Given the description of an element on the screen output the (x, y) to click on. 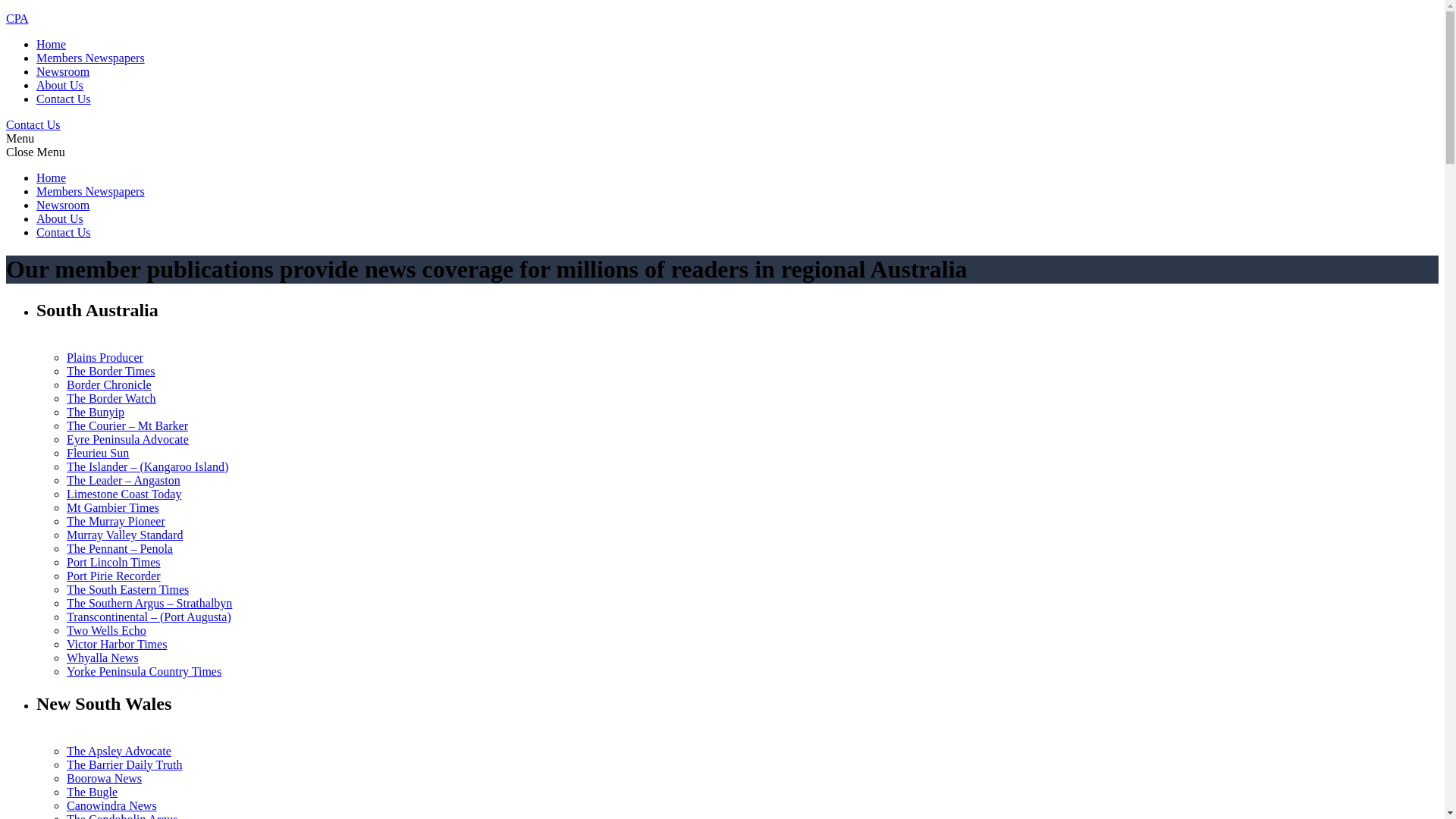
Boorowa News Element type: text (103, 777)
Fleurieu Sun Element type: text (97, 452)
Contact Us Element type: text (33, 124)
The Bunyip Element type: text (95, 411)
Contact Us Element type: text (63, 231)
Close Menu Element type: text (35, 151)
Plains Producer Element type: text (104, 357)
Mt Gambier Times Element type: text (112, 507)
Whyalla News Element type: text (102, 657)
Home Element type: text (50, 177)
Newsroom Element type: text (62, 71)
The Barrier Daily Truth Element type: text (124, 764)
Two Wells Echo Element type: text (106, 630)
The Border Watch Element type: text (110, 398)
Yorke Peninsula Country Times Element type: text (143, 671)
Members Newspapers Element type: text (90, 191)
The Bugle Element type: text (91, 791)
CPA Element type: text (17, 18)
About Us Element type: text (59, 218)
Home Element type: text (50, 43)
Canowindra News Element type: text (111, 805)
Limestone Coast Today Element type: text (123, 493)
Members Newspapers Element type: text (90, 57)
Murray Valley Standard Element type: text (124, 534)
Newsroom Element type: text (62, 204)
The Murray Pioneer Element type: text (115, 520)
Port Pirie Recorder Element type: text (113, 575)
Border Chronicle Element type: text (108, 384)
Port Lincoln Times Element type: text (113, 561)
Eyre Peninsula Advocate Element type: text (127, 439)
The Border Times Element type: text (110, 370)
About Us Element type: text (59, 84)
Contact Us Element type: text (63, 98)
The South Eastern Times Element type: text (127, 589)
Victor Harbor Times Element type: text (116, 643)
The Apsley Advocate Element type: text (118, 750)
